Given the description of an element on the screen output the (x, y) to click on. 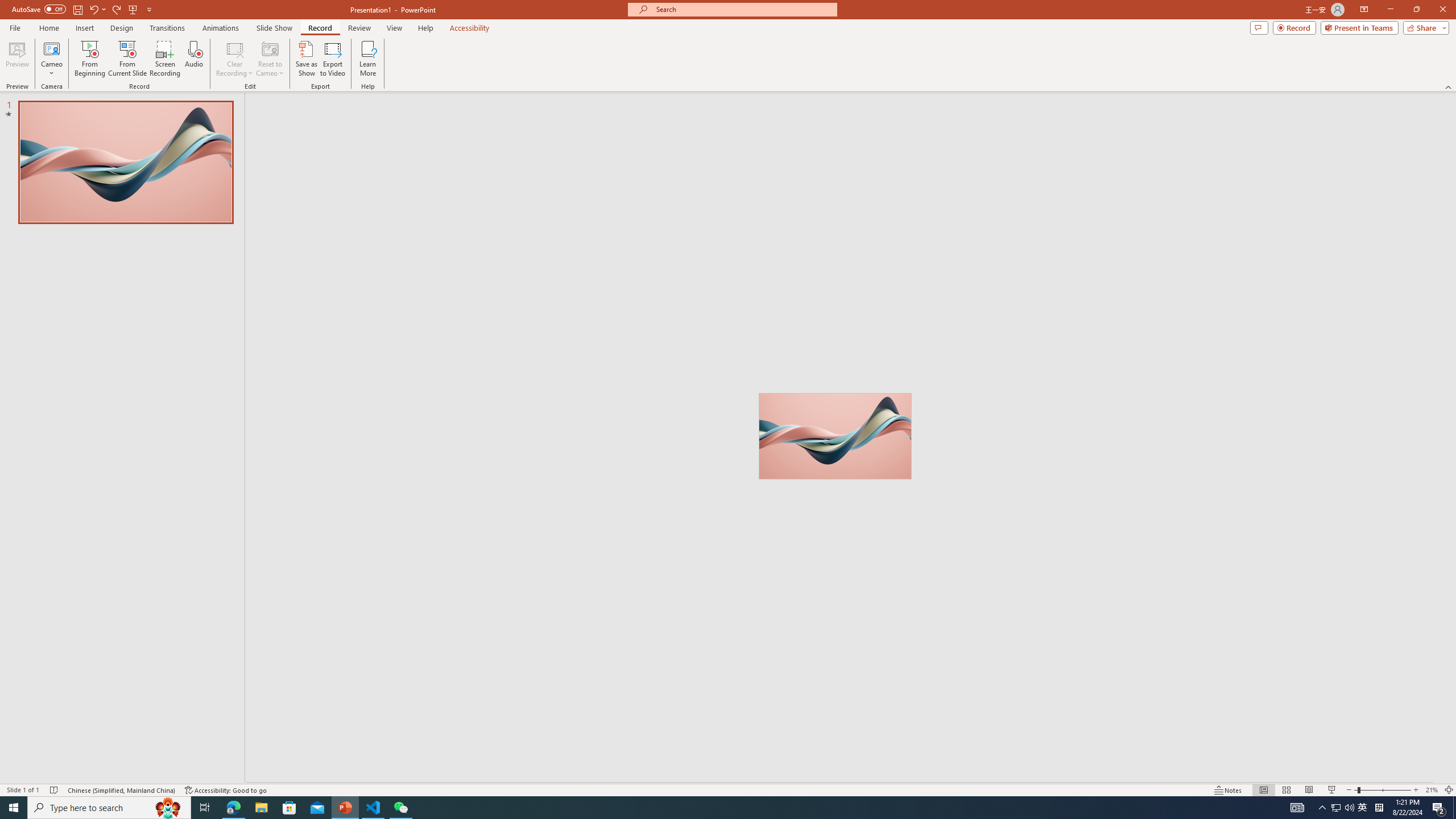
Screen Recording (165, 58)
Audio (193, 58)
